Given the description of an element on the screen output the (x, y) to click on. 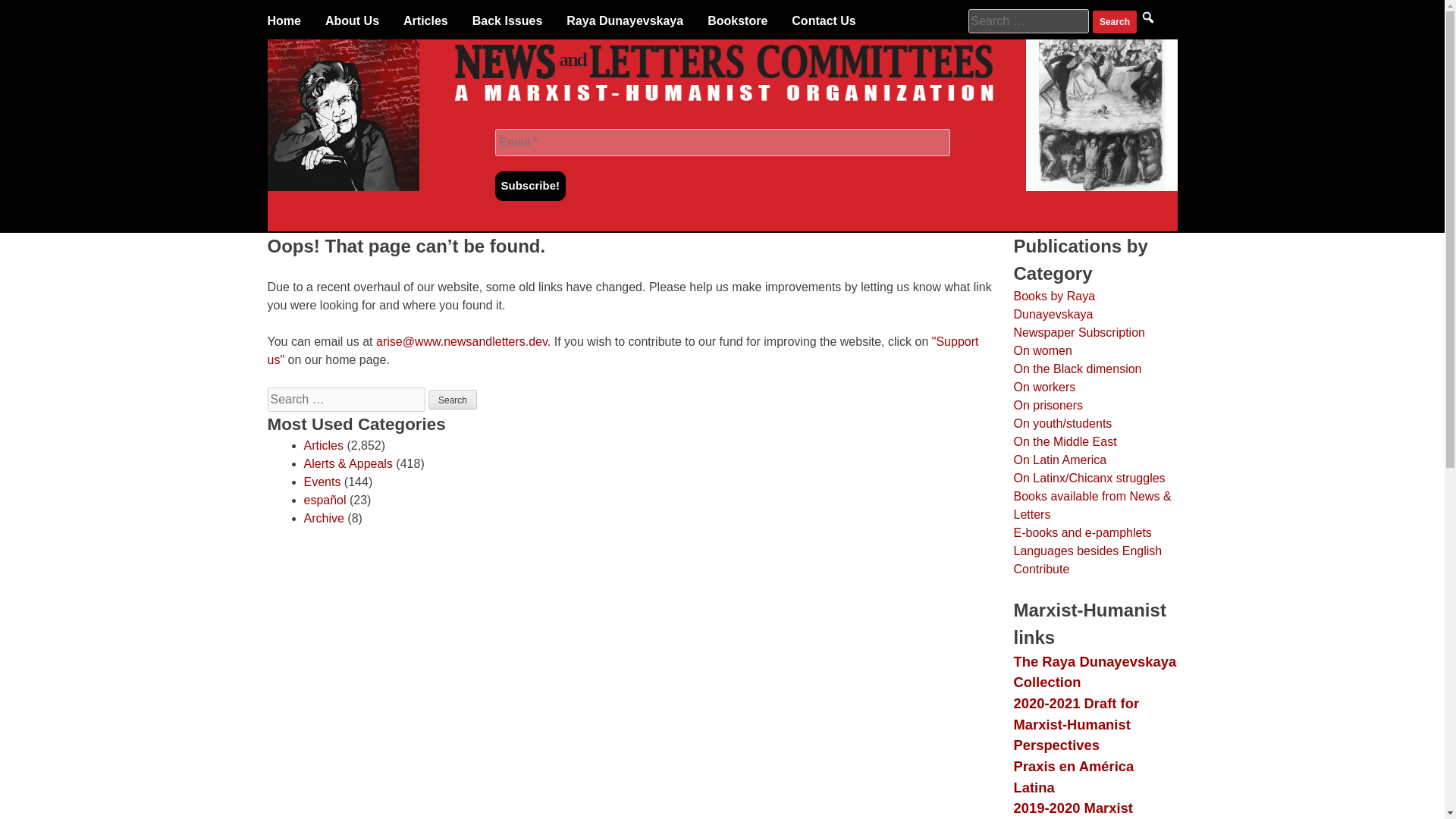
Contribute (1040, 568)
Subscribe! (530, 185)
Languages besides English (1087, 550)
On Latin America (1059, 459)
Events (321, 481)
On the Black dimension (1077, 368)
Search (452, 399)
On women (1042, 350)
Search (452, 399)
About Us (351, 21)
Search (1115, 21)
The Raya Dunayevskaya Collection (1094, 672)
Email (722, 142)
Archive (322, 517)
Books by Raya Dunayevskaya (1053, 305)
